Given the description of an element on the screen output the (x, y) to click on. 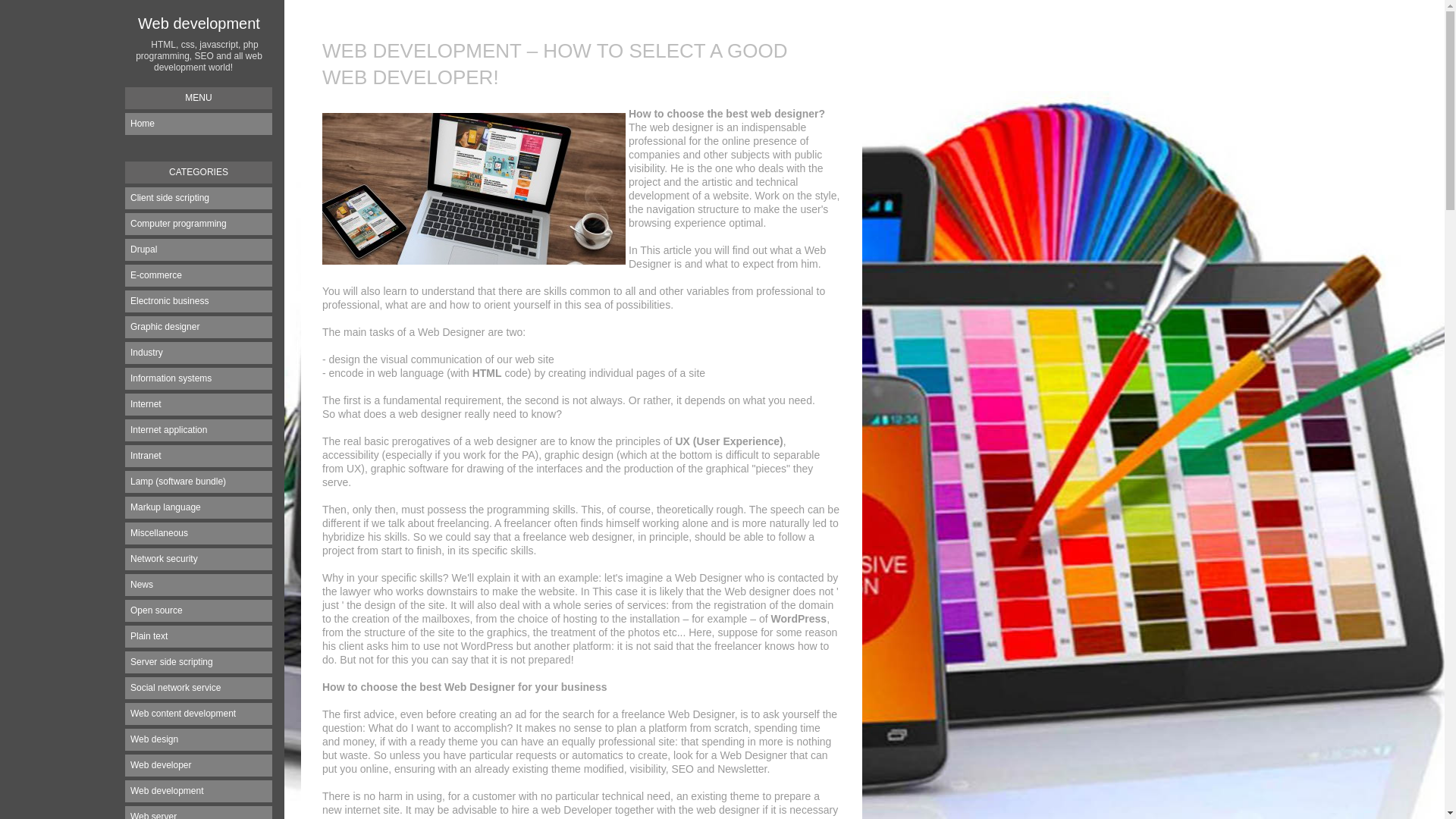
Internet application Element type: text (198, 430)
Internet Element type: text (198, 404)
Drupal Element type: text (198, 249)
Network security Element type: text (198, 559)
Lamp (software bundle) Element type: text (198, 481)
Electronic business Element type: text (198, 301)
Web developer Element type: text (198, 765)
Home Element type: text (198, 123)
Plain text Element type: text (198, 636)
Web content development Element type: text (198, 713)
Web design Element type: text (198, 739)
Open source Element type: text (198, 610)
Computer programming Element type: text (198, 224)
E-commerce Element type: text (198, 275)
Web development Element type: text (199, 23)
Client side scripting Element type: text (198, 198)
Markup language Element type: text (198, 507)
Information systems Element type: text (198, 378)
Miscellaneous Element type: text (198, 533)
Graphic designer Element type: text (198, 327)
Intranet Element type: text (198, 456)
Industry Element type: text (198, 353)
Social network service Element type: text (198, 688)
Server side scripting Element type: text (198, 662)
News Element type: text (198, 585)
Web development Element type: text (198, 791)
